Given the description of an element on the screen output the (x, y) to click on. 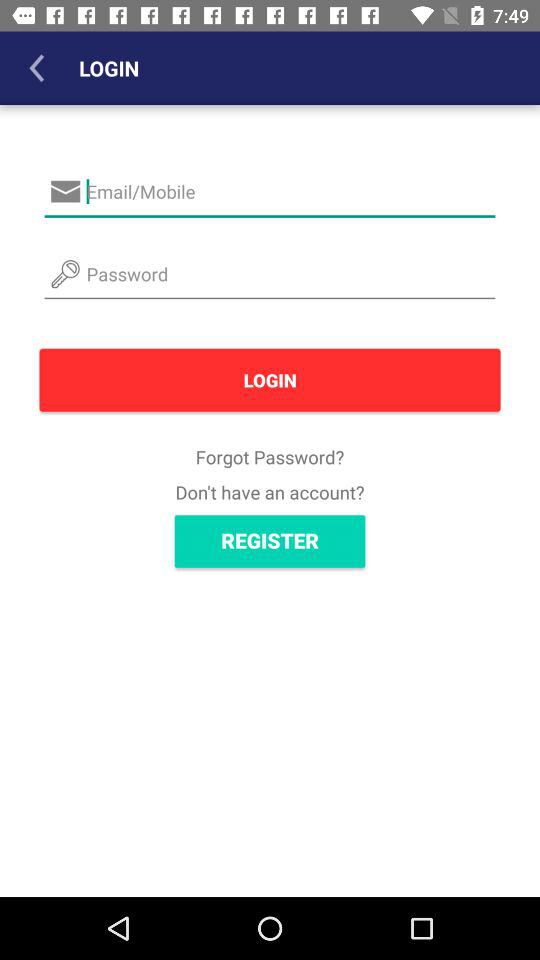
press the register icon (269, 541)
